Given the description of an element on the screen output the (x, y) to click on. 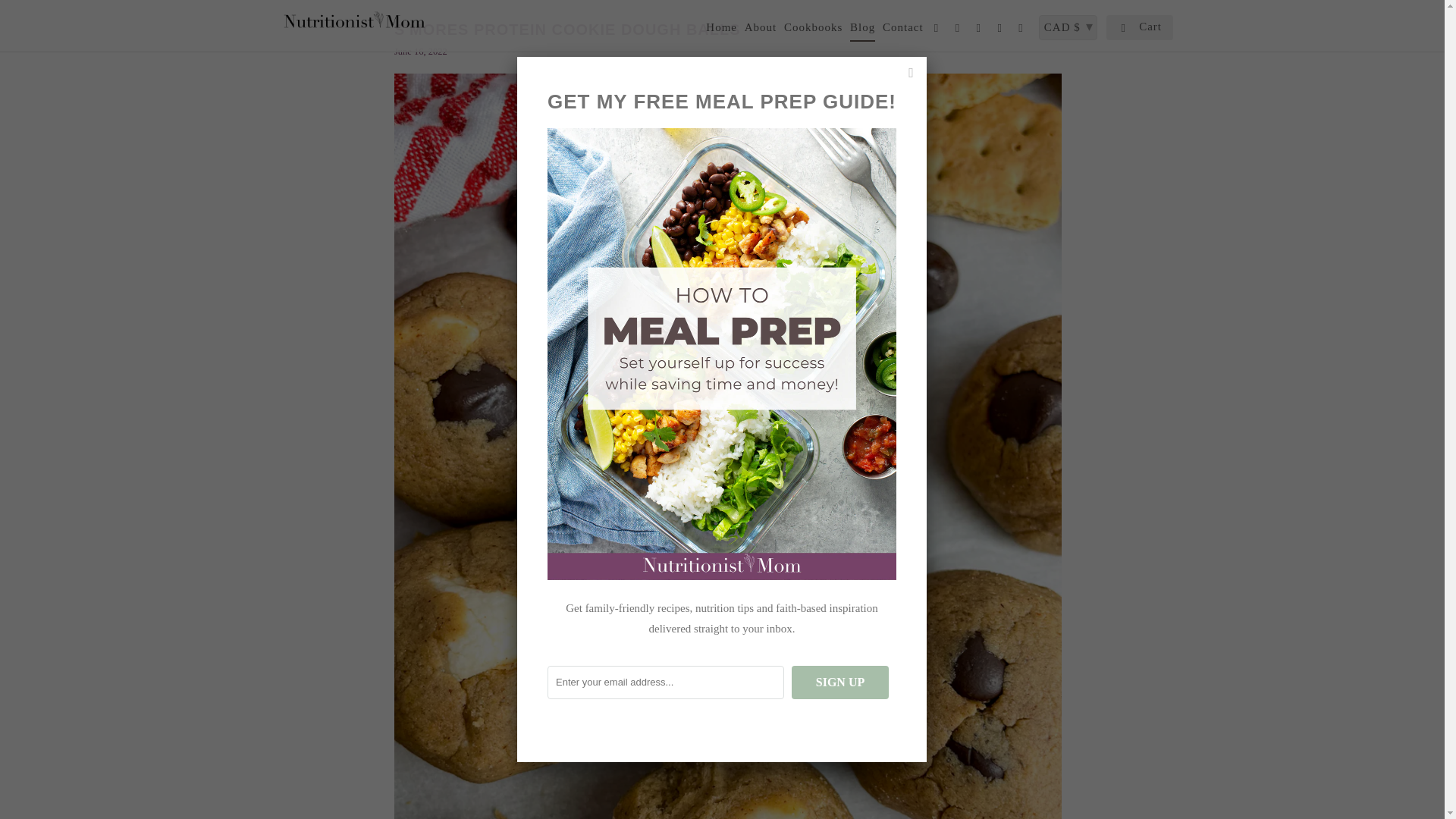
Sign Up (840, 682)
